Given the description of an element on the screen output the (x, y) to click on. 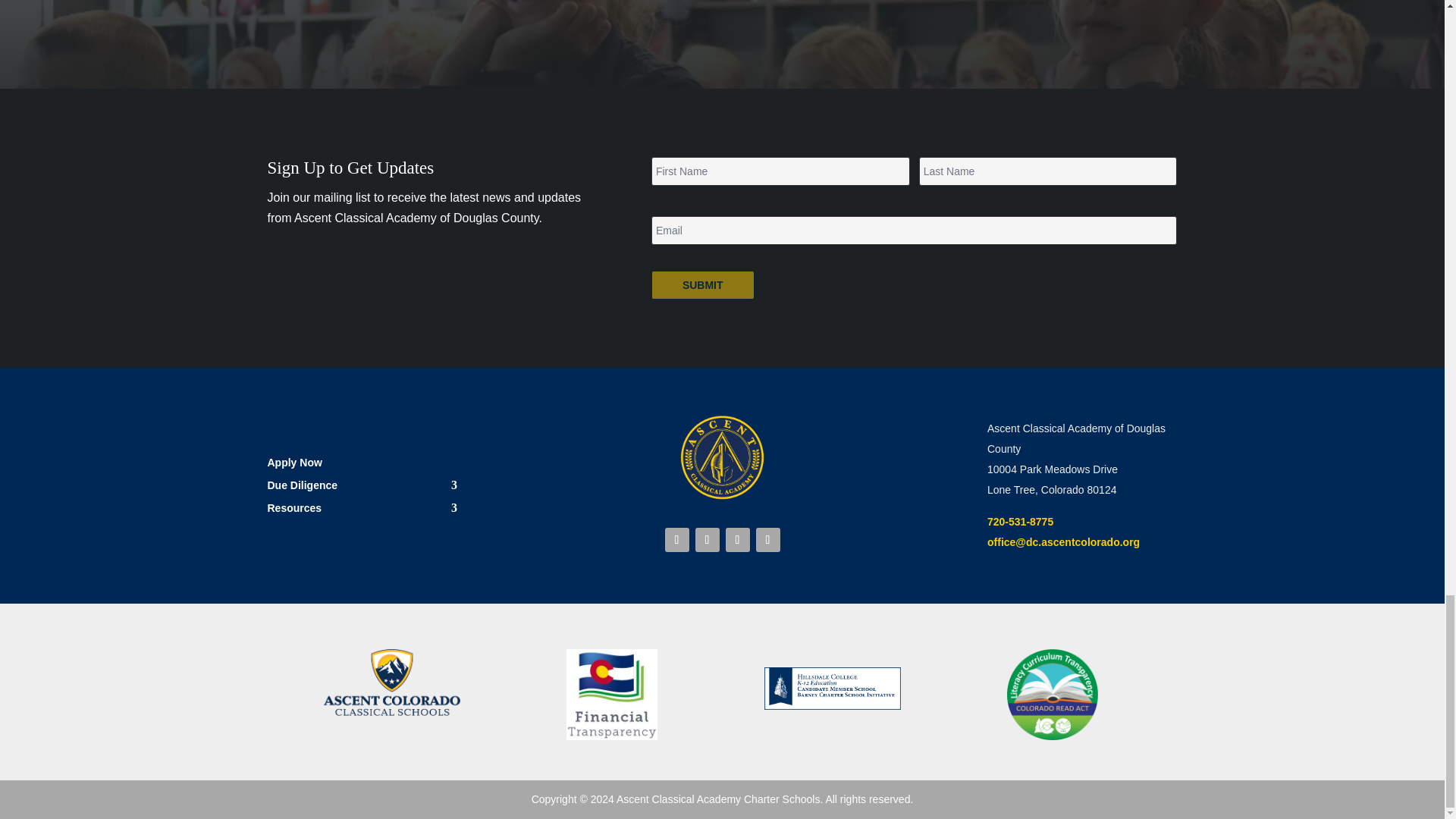
Follow on LinkedIn (737, 539)
Guardians-Logo-Gold (722, 457)
Submit (702, 285)
Follow on Instagram (706, 539)
Follow on Google (766, 539)
Follow on Facebook (675, 539)
